Given the description of an element on the screen output the (x, y) to click on. 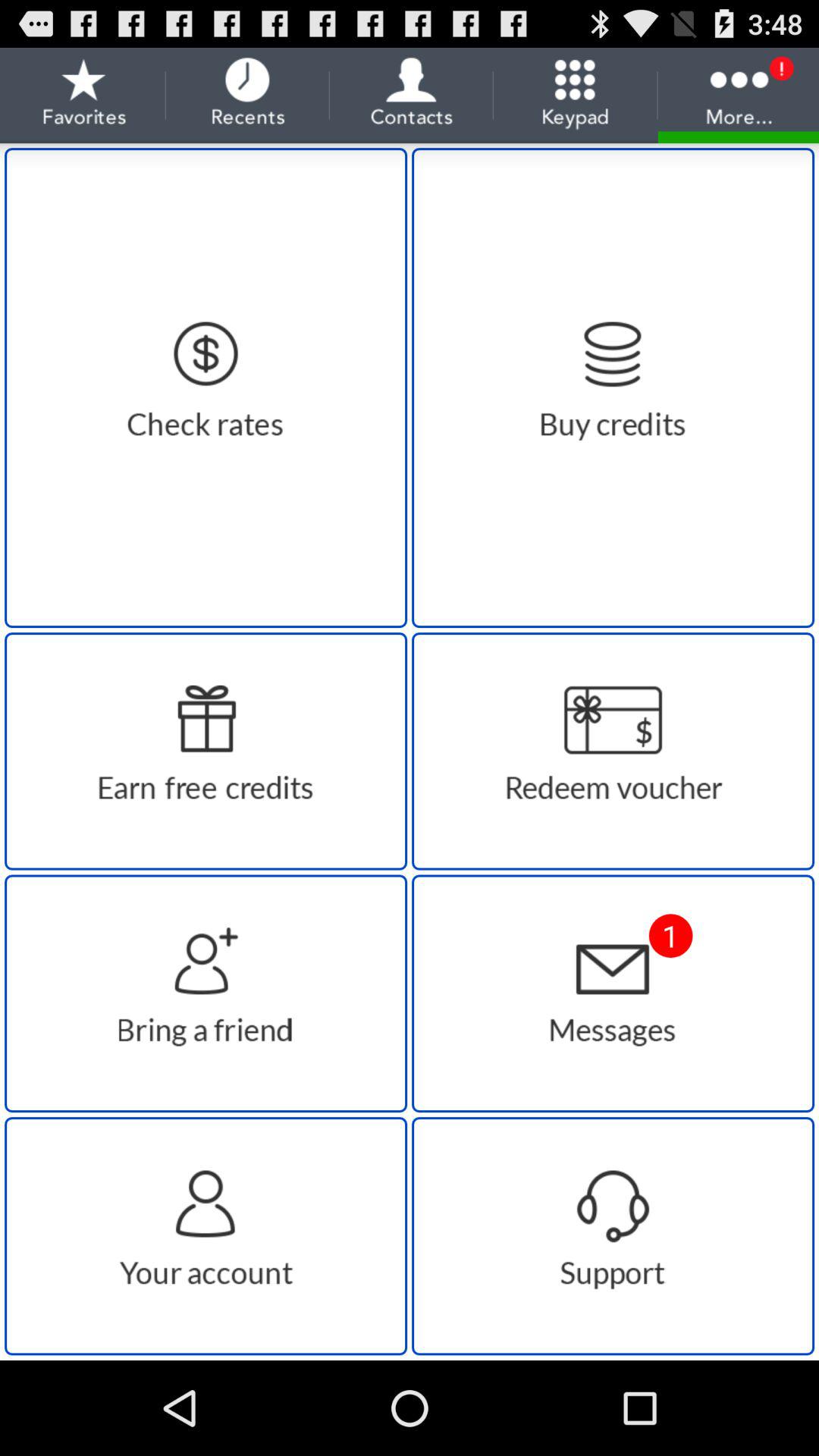
messages (612, 993)
